Given the description of an element on the screen output the (x, y) to click on. 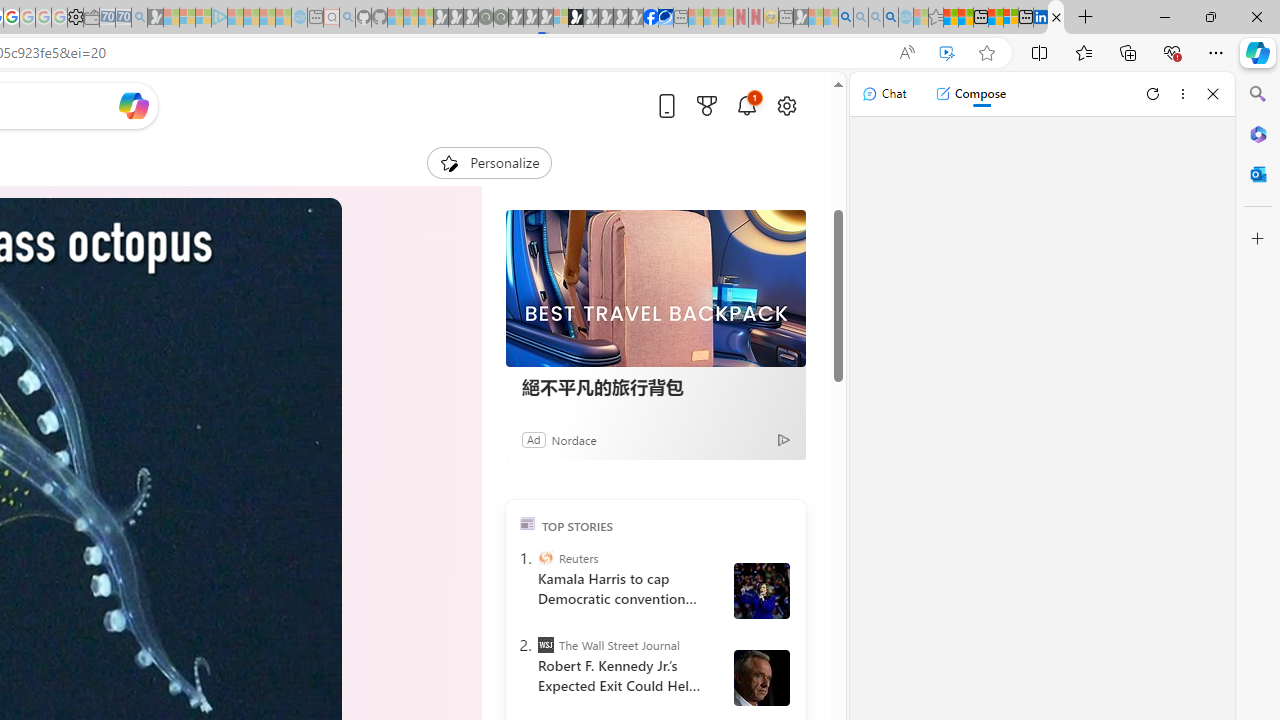
Bing AI - Search (845, 17)
